Given the description of an element on the screen output the (x, y) to click on. 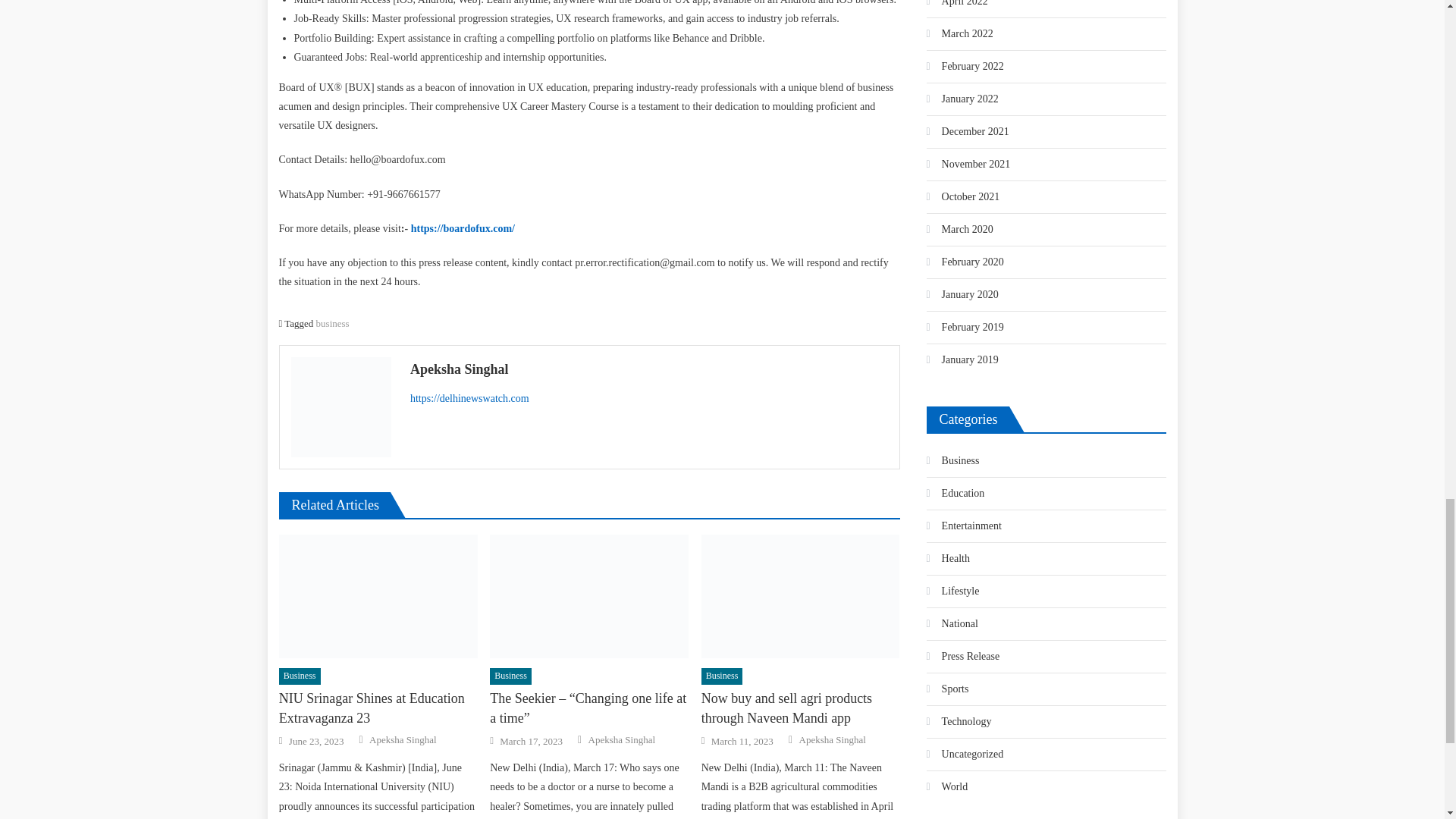
Apeksha Singhal (649, 369)
Now buy and sell agri products through Naveen Mandi app (800, 596)
Apeksha Singhal (402, 739)
June 23, 2023 (315, 741)
NIU Srinagar Shines at Education Extravaganza 23 (378, 596)
NIU Srinagar Shines at Education Extravaganza 23 (378, 708)
business (332, 323)
Business (299, 676)
